Given the description of an element on the screen output the (x, y) to click on. 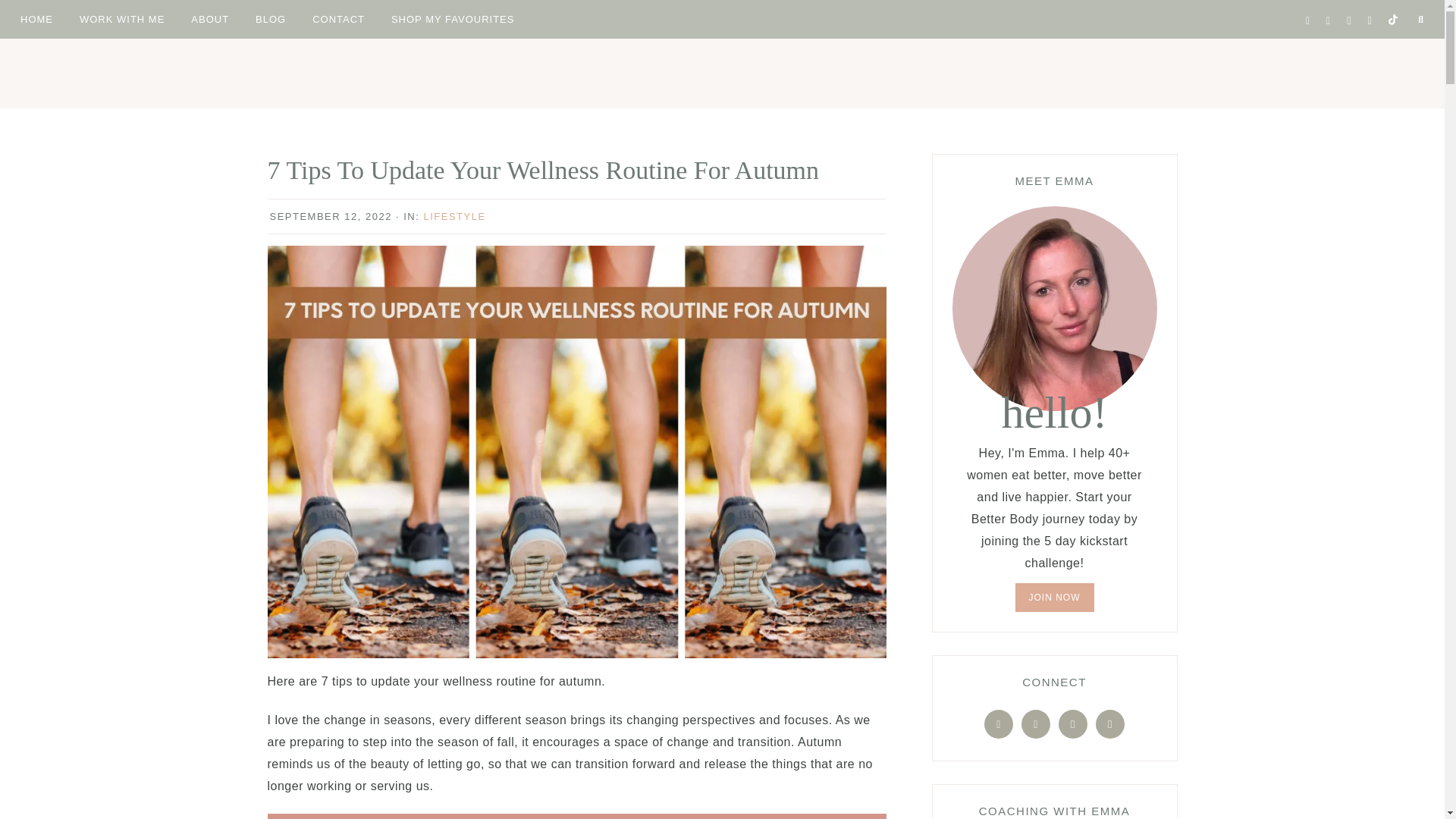
WORK WITH ME (122, 18)
BLOG (270, 18)
LIFESTYLE (453, 215)
SHOP MY FAVOURITES (452, 18)
HOME (36, 18)
CONTACT (338, 18)
ABOUT (209, 18)
